Given the description of an element on the screen output the (x, y) to click on. 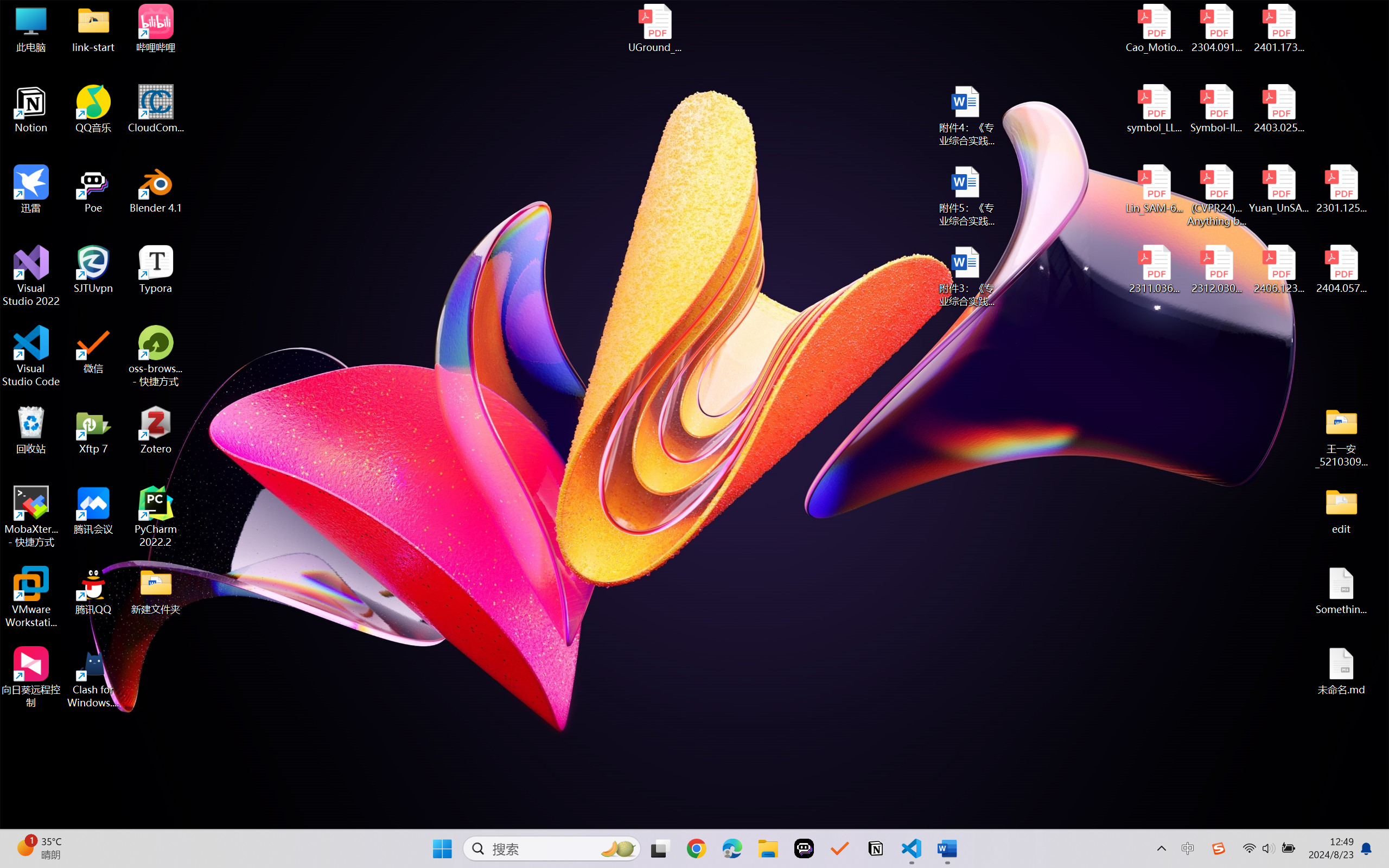
Xftp 7 (93, 430)
2404.05719v1.pdf (1340, 269)
(CVPR24)Matching Anything by Segmenting Anything.pdf (1216, 195)
Blender 4.1 (156, 189)
PyCharm 2022.2 (156, 516)
